Given the description of an element on the screen output the (x, y) to click on. 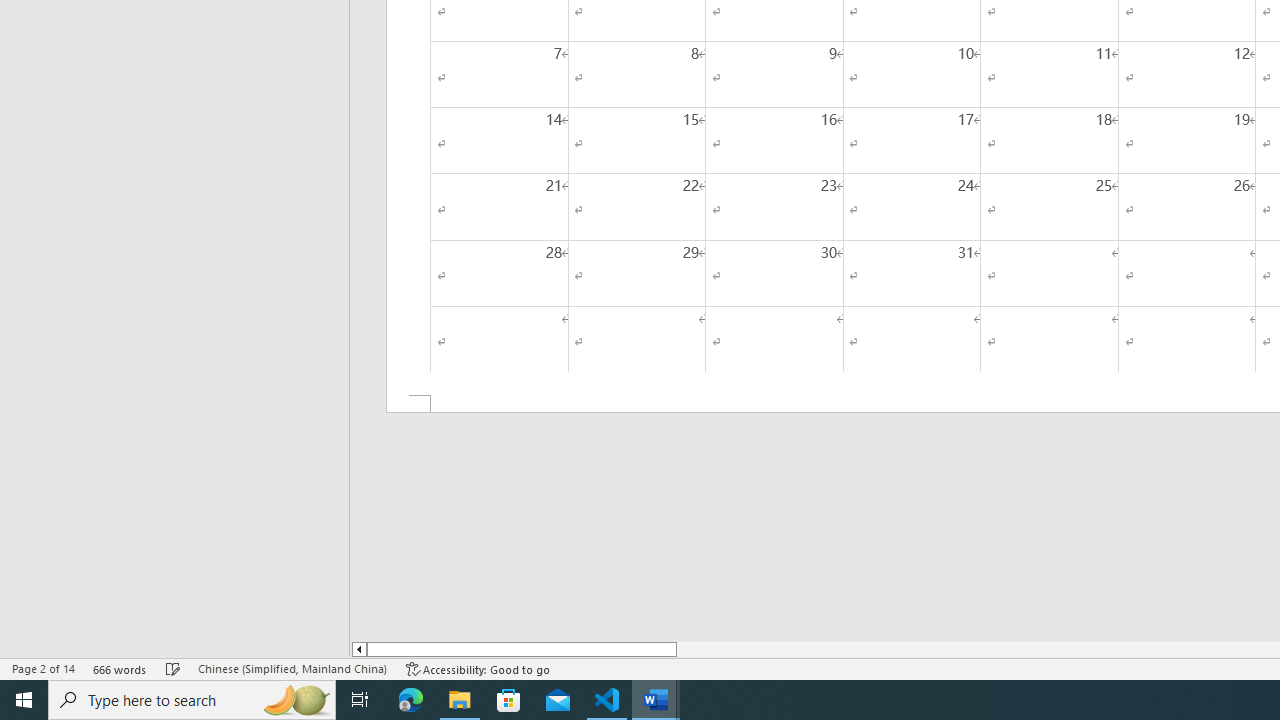
Page Number Page 2 of 14 (43, 668)
Column left (358, 649)
